Given the description of an element on the screen output the (x, y) to click on. 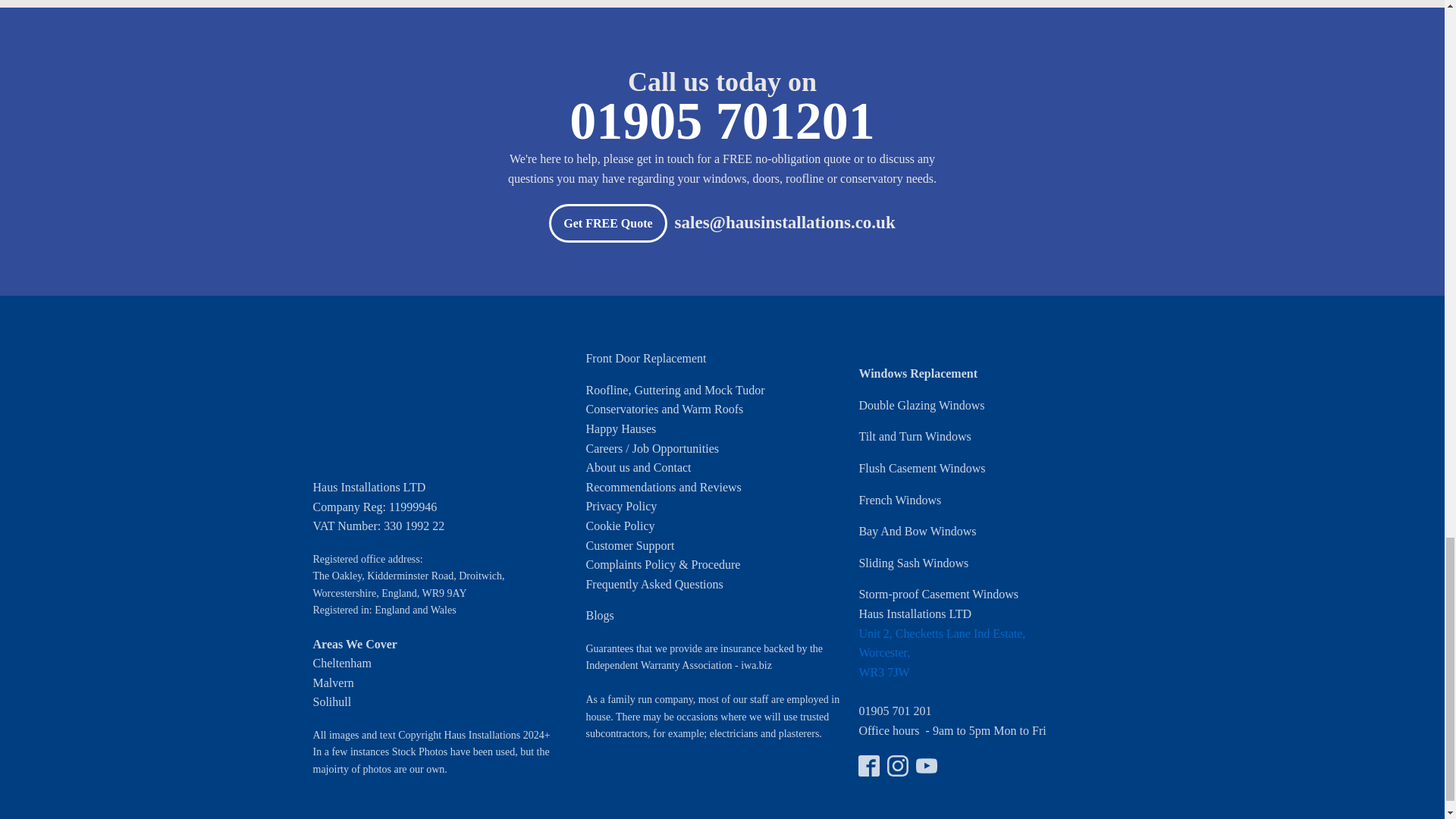
Cheltenham (342, 662)
Get FREE Quote (607, 223)
01905 701201 (722, 126)
